Given the description of an element on the screen output the (x, y) to click on. 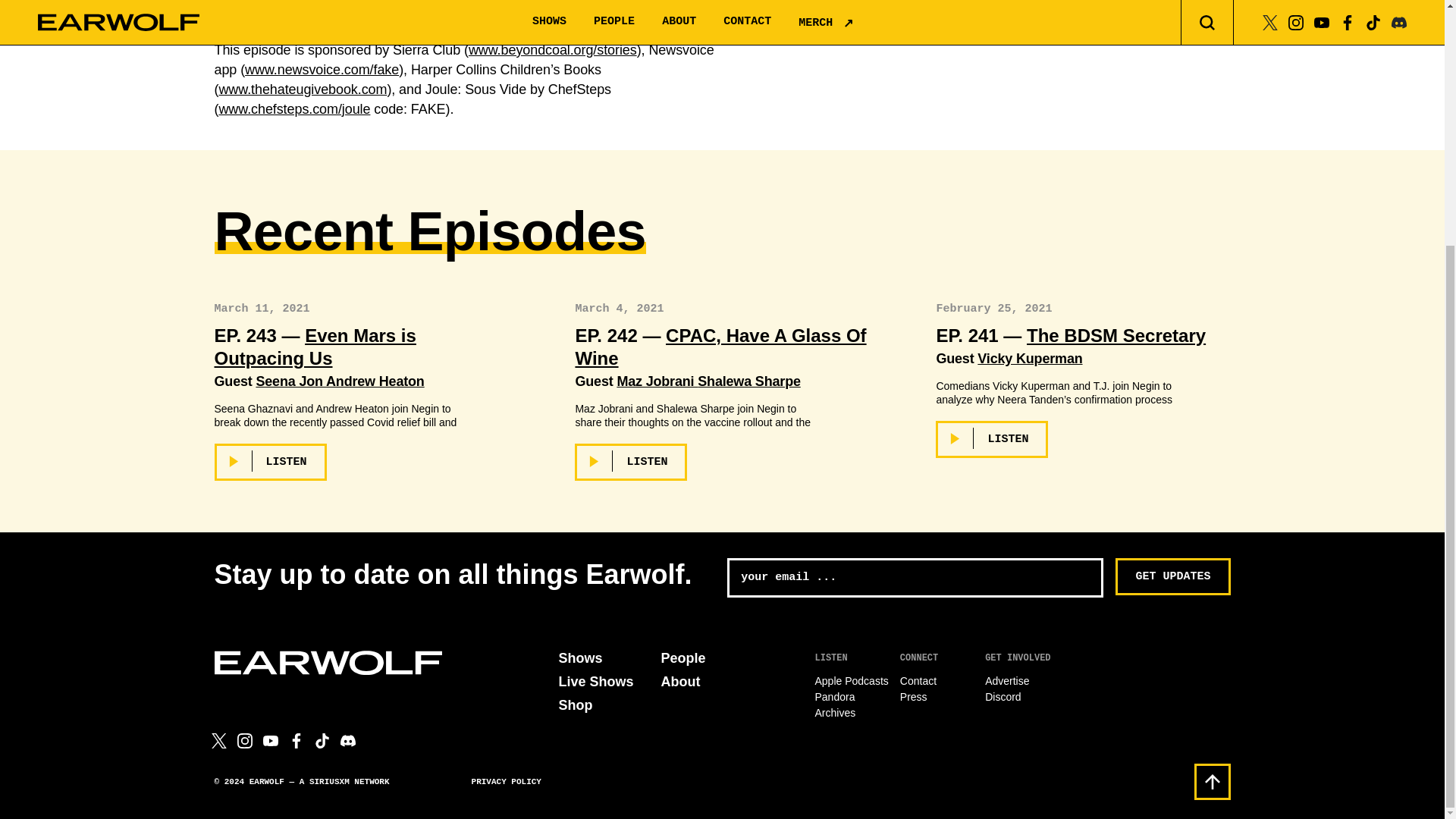
www.thehateugivebook.com (302, 89)
LISTEN (270, 461)
Seena Jon (291, 381)
Maz Jobrani (656, 381)
Earwolf (327, 662)
John Fugelsang (853, 25)
CPAC, Have A Glass Of Wine (720, 346)
Andrew Heaton (375, 381)
Ann Herberger (1005, 25)
Get Updates (1172, 576)
Even Mars is Outpacing Us (314, 346)
